Given the description of an element on the screen output the (x, y) to click on. 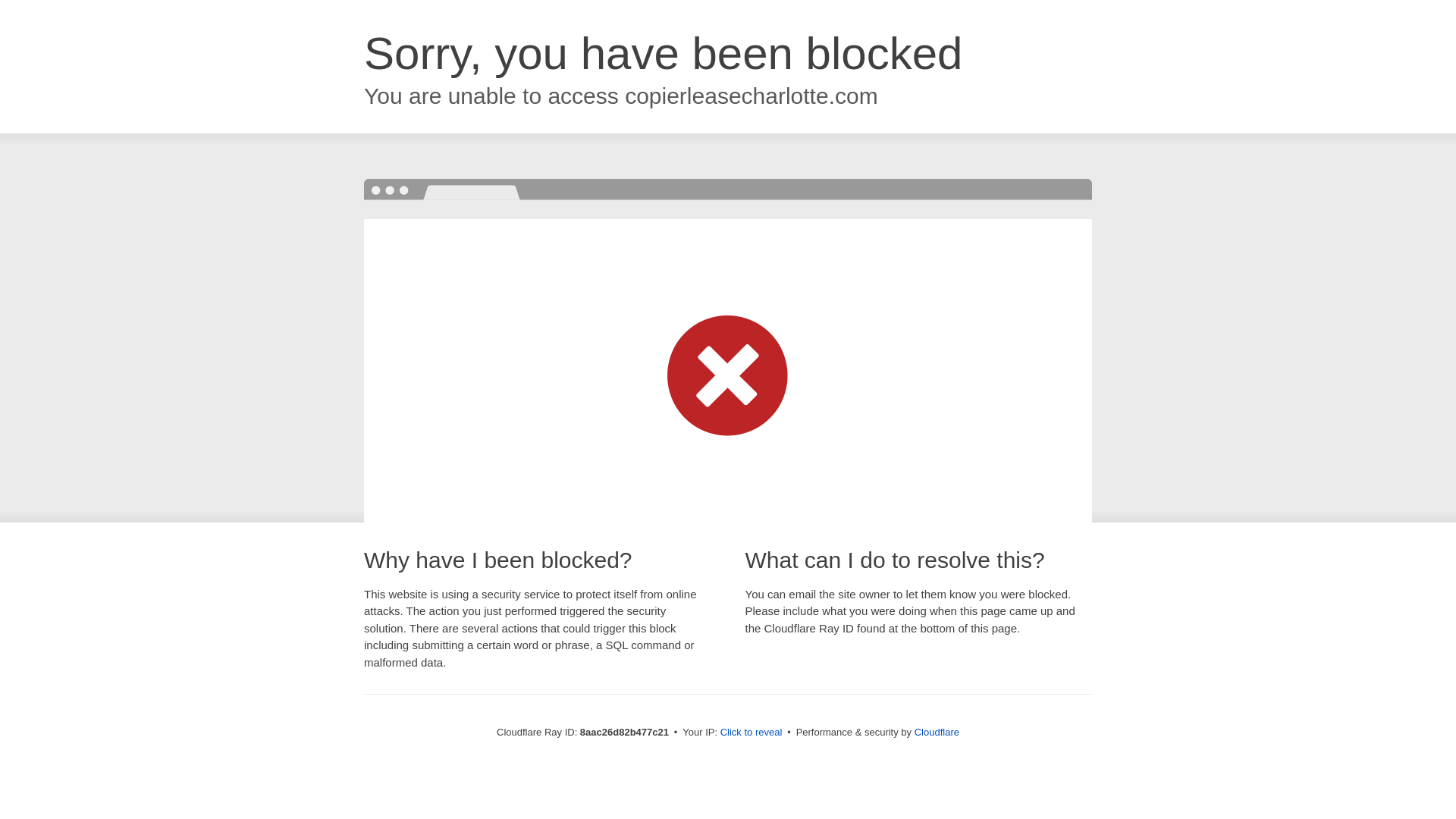
Click to reveal (751, 732)
Cloudflare (936, 731)
